Given the description of an element on the screen output the (x, y) to click on. 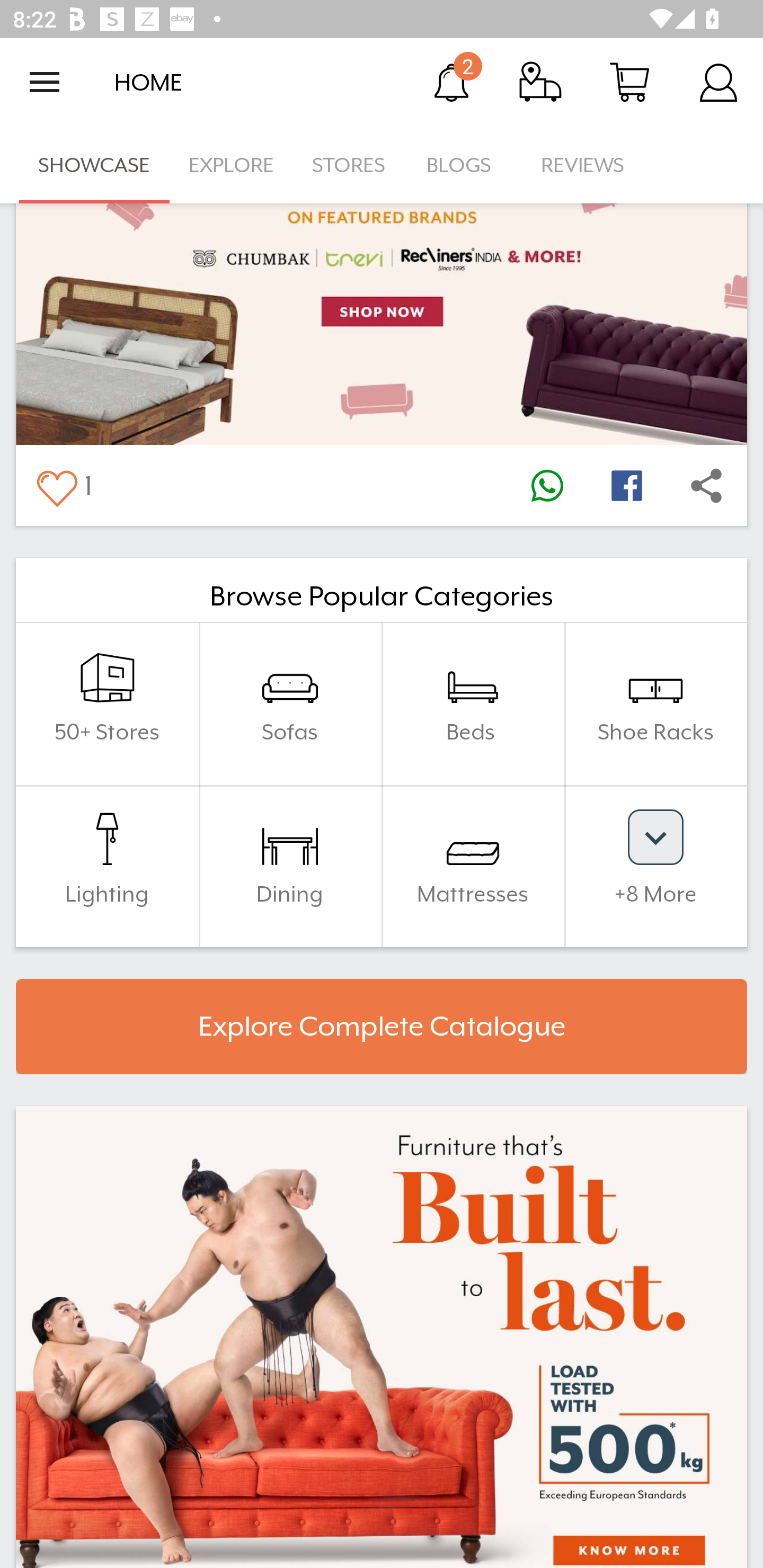
Open navigation drawer (44, 82)
Notification (450, 81)
Track Order (540, 81)
Cart (629, 81)
Account Details (718, 81)
SHOWCASE (94, 165)
EXPLORE (230, 165)
STORES (349, 165)
BLOGS (464, 165)
REVIEWS (582, 165)
 (55, 484)
 (547, 484)
 (626, 484)
 (706, 484)
50+ Stores (106, 704)
Sofas (289, 704)
Beds  (473, 704)
Shoe Racks (655, 704)
Lighting (106, 866)
Dining (289, 866)
Mattresses (473, 866)
 +8 More (655, 866)
Explore Complete Catalogue (381, 1026)
